Given the description of an element on the screen output the (x, y) to click on. 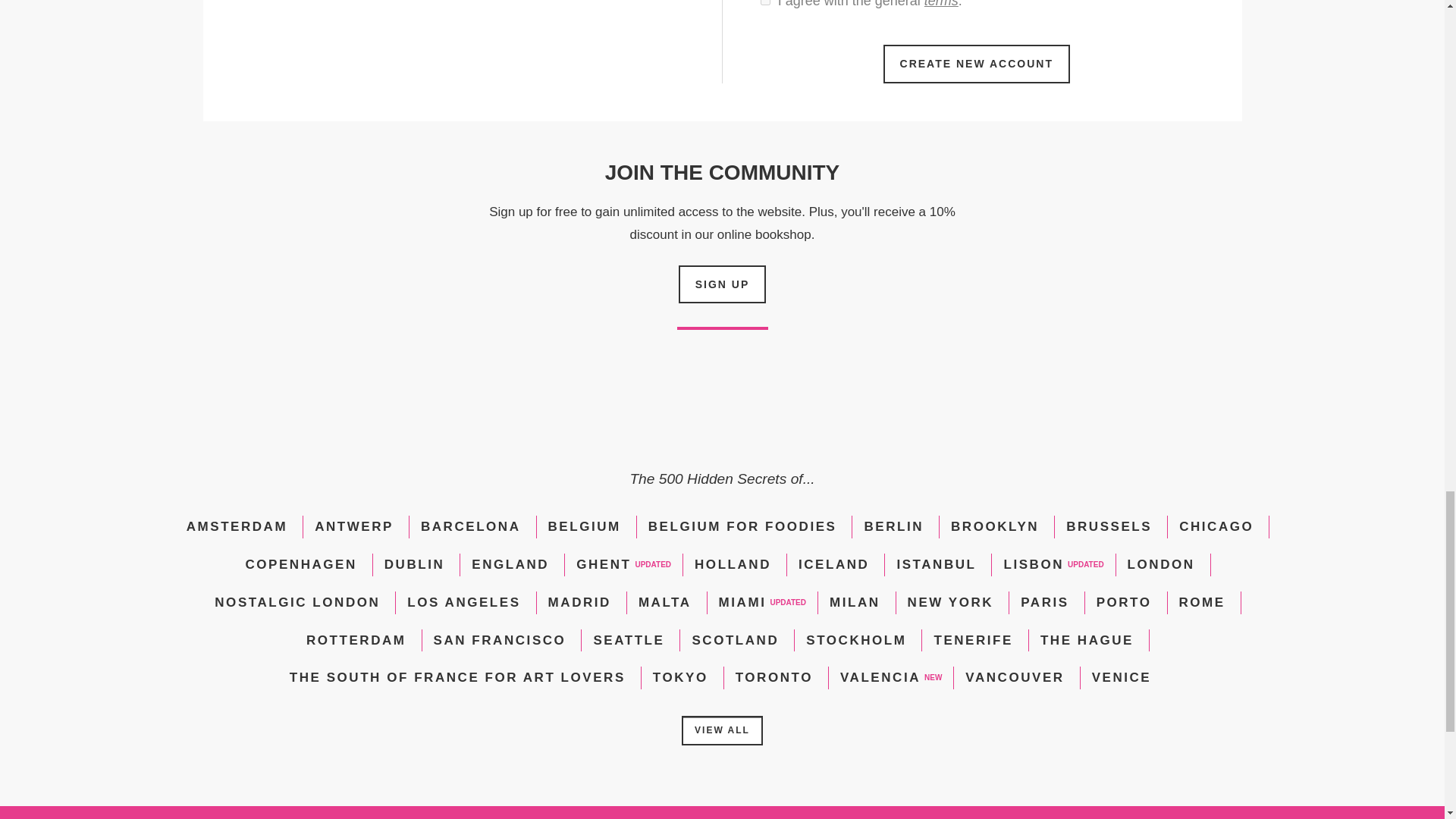
Create new account (976, 64)
terms (941, 4)
1 (765, 2)
SIGN UP (722, 284)
BELGIUM (584, 526)
BARCELONA (470, 526)
AMSTERDAM (236, 526)
ANTWERP (353, 526)
BELGIUM FOR FOODIES (742, 526)
Create new account (976, 64)
